Given the description of an element on the screen output the (x, y) to click on. 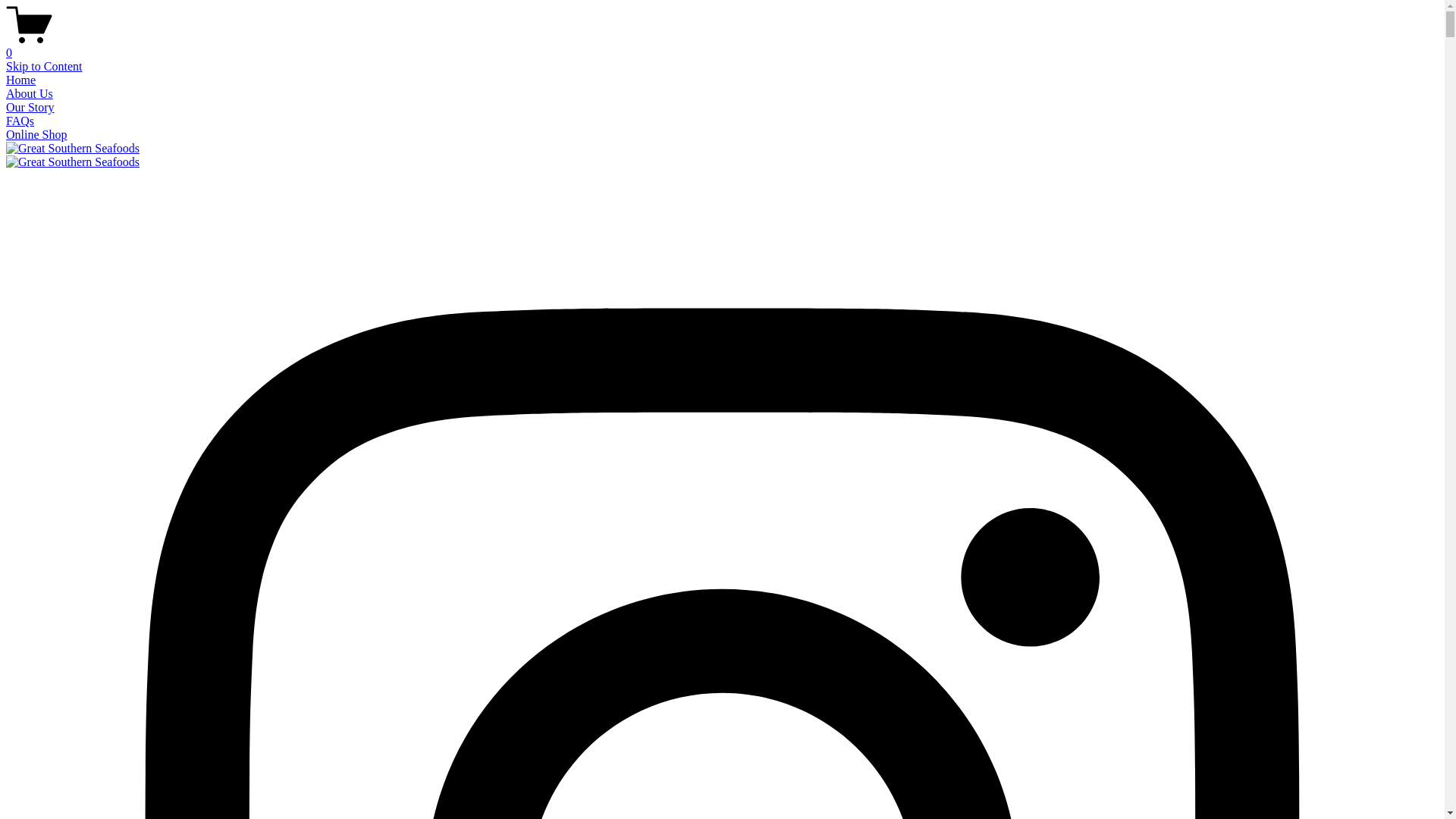
Online Shop Element type: text (36, 134)
Skip to Content Element type: text (43, 65)
About Us Element type: text (29, 93)
Our Story Element type: text (30, 106)
FAQs Element type: text (20, 120)
Home Element type: text (20, 79)
0 Element type: text (722, 45)
